Given the description of an element on the screen output the (x, y) to click on. 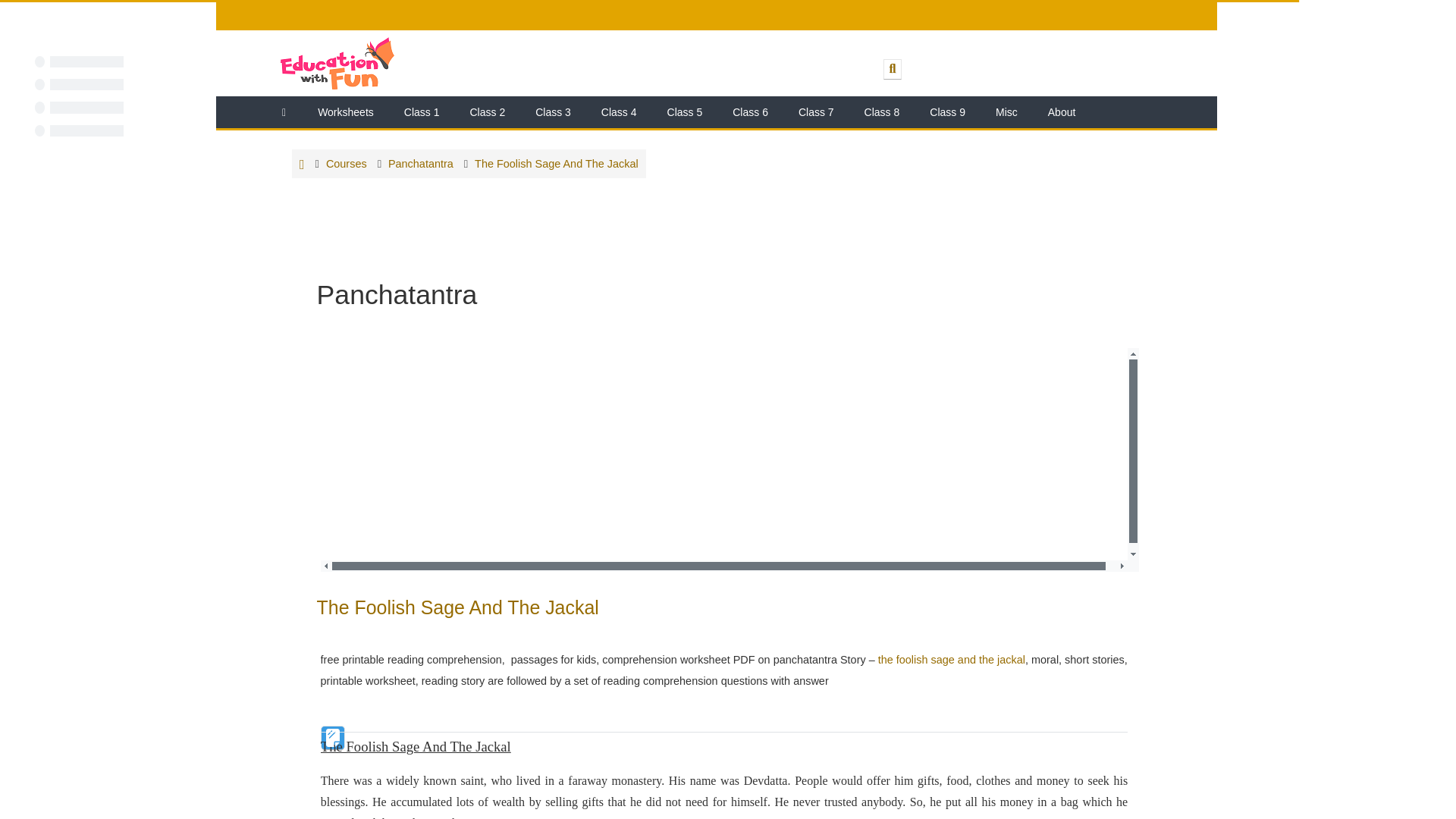
Class 2 (486, 111)
The Foolish Sage And The Jackal (951, 659)
Class 4 (619, 111)
Worksheets (345, 111)
Toggle search input (892, 68)
Panchatantra (420, 163)
Class 1 (421, 111)
Class 3 (552, 111)
Toggle search input (892, 68)
